Given the description of an element on the screen output the (x, y) to click on. 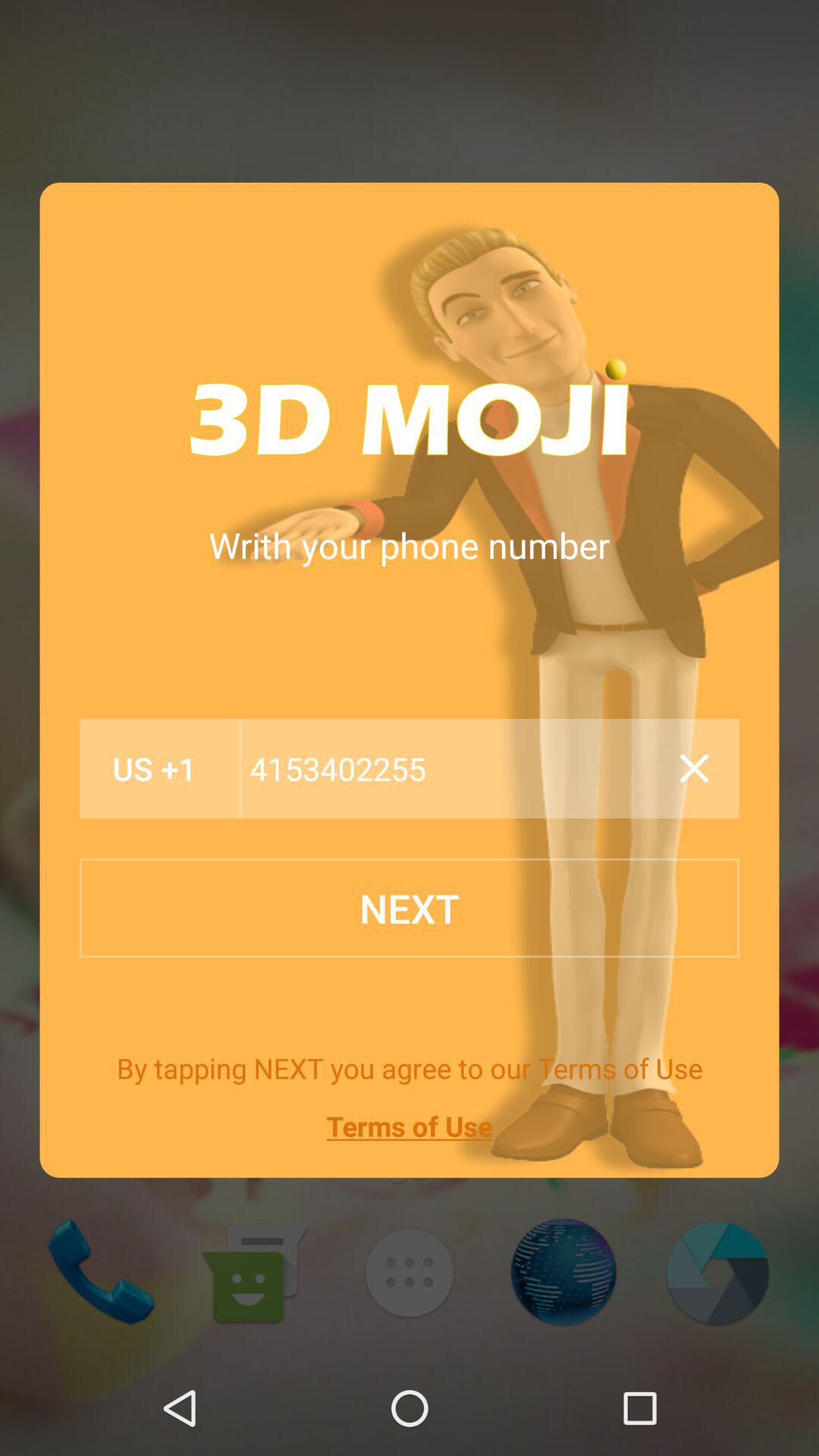
close (694, 768)
